Given the description of an element on the screen output the (x, y) to click on. 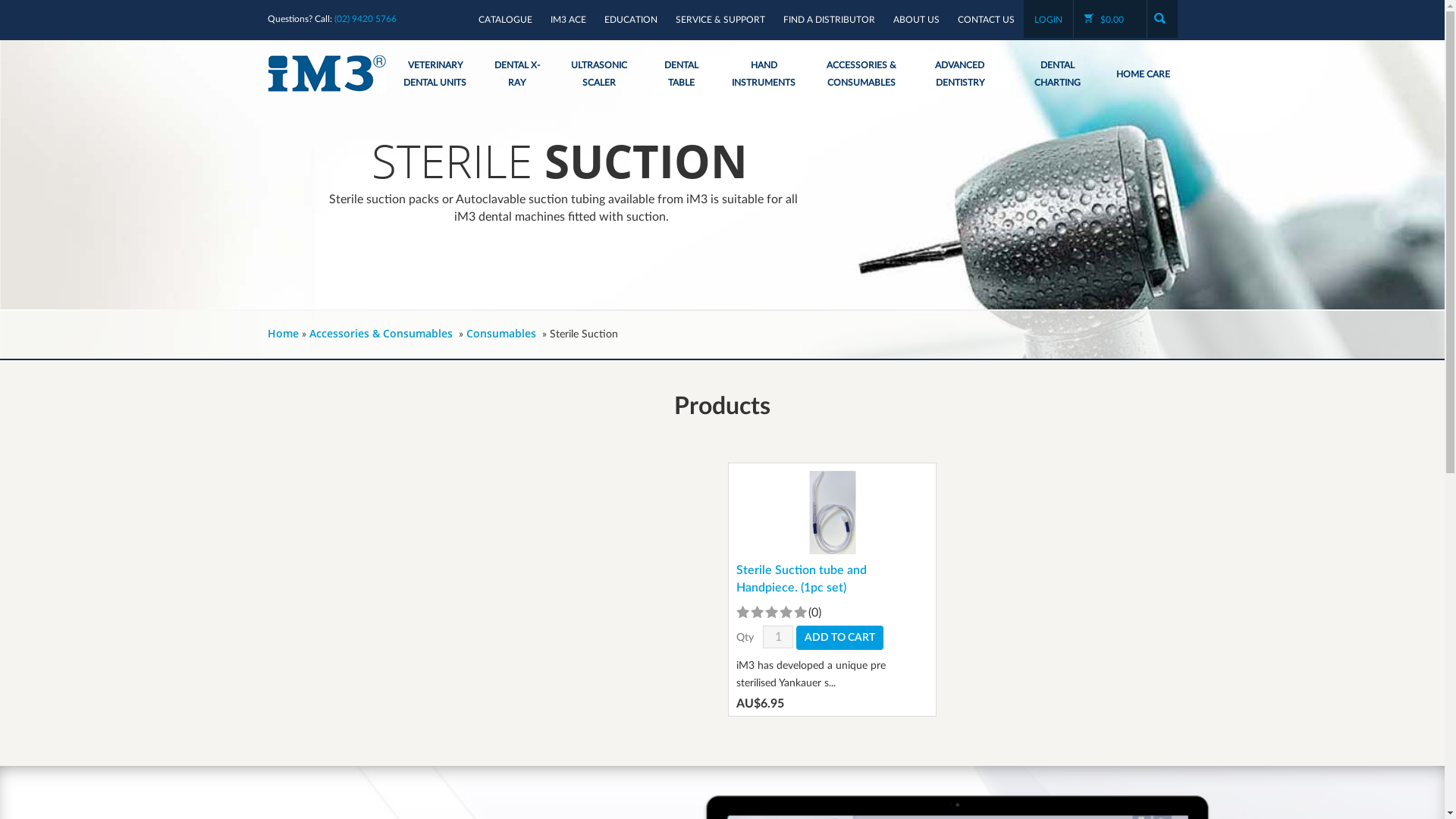
HAND INSTRUMENTS Element type: text (763, 73)
(02) 9420 5766 Element type: text (364, 18)
ABOUT US Element type: text (916, 19)
View Sterile Suction tube and Handpiece. (1pc set) Element type: hover (831, 545)
ADVANCED DENTISTRY Element type: text (959, 73)
Consumables Element type: text (500, 333)
VETERINARY DENTAL UNITS Element type: text (434, 73)
EDUCATION Element type: text (629, 19)
Home Element type: text (282, 333)
DENTAL TABLE Element type: text (681, 73)
SERVICE & SUPPORT Element type: text (719, 19)
CATALOGUE Element type: text (504, 19)
Accessories & Consumables Element type: text (380, 333)
ADD TO CART Element type: text (839, 637)
DENTAL X-RAY Element type: text (516, 73)
$0.00 Element type: text (1109, 19)
LOGIN Element type: text (1048, 19)
Sterile Suction tube and Handpiece. (1pc set) Element type: text (832, 578)
FIND A DISTRIBUTOR Element type: text (828, 19)
IM3 ACE Element type: text (568, 19)
CONTACT US Element type: text (985, 19)
ACCESSORIES & CONSUMABLES Element type: text (861, 73)
HOME CARE Element type: text (1143, 74)
ULTRASONIC SCALER Element type: text (599, 73)
DENTAL CHARTING Element type: text (1057, 73)
